Given the description of an element on the screen output the (x, y) to click on. 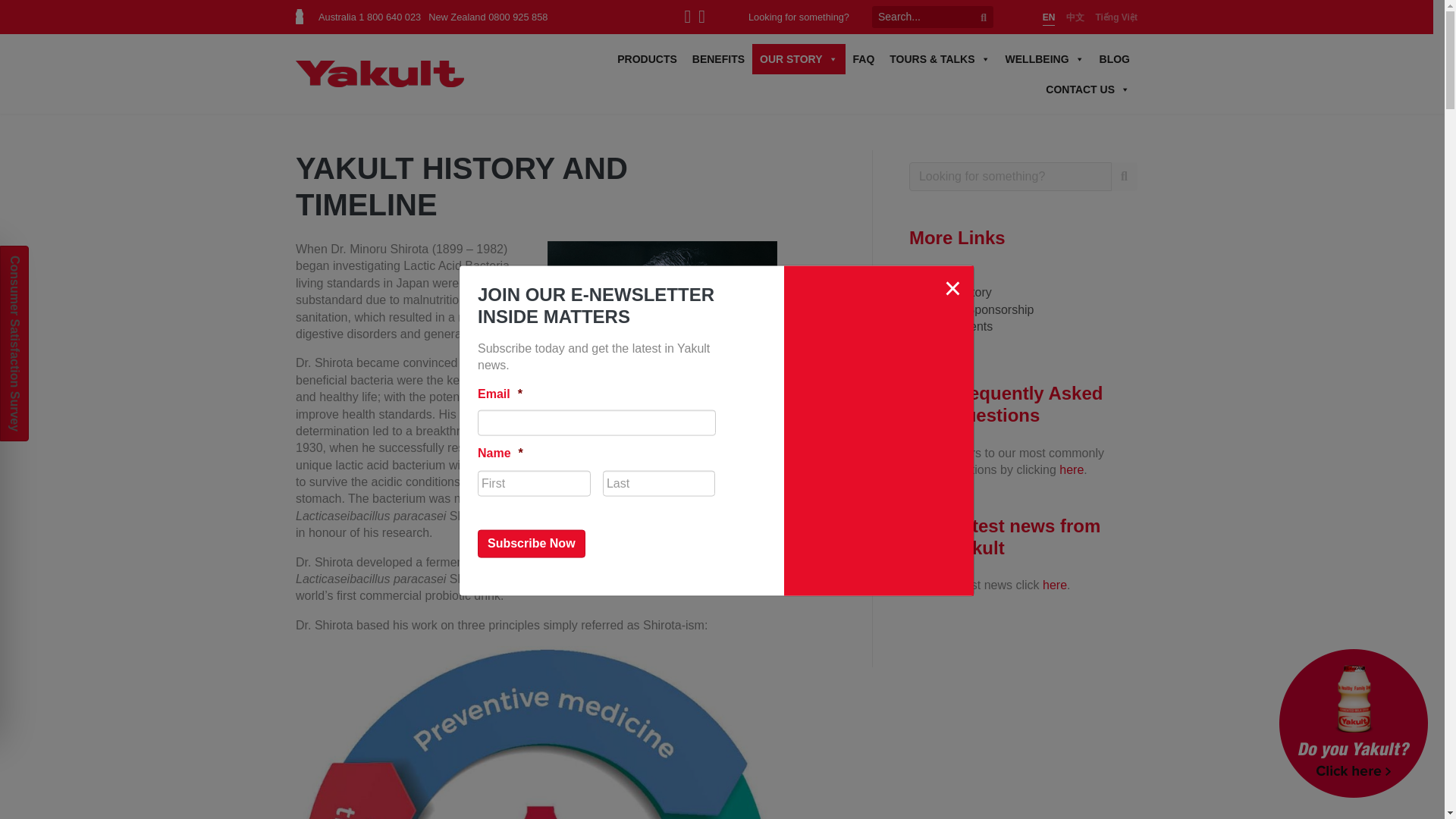
PRODUCTS (647, 59)
Australia 1 800 640 023 (369, 16)
BENEFITS (718, 59)
Yakult Australia (379, 72)
New Zealand 0800 925 858 (487, 16)
OUR STORY (798, 59)
CONTACT US (1087, 89)
BLOG (1114, 59)
EN (1048, 18)
FAQ (863, 59)
WELLBEING (1044, 59)
Subscribe Now (531, 543)
